Given the description of an element on the screen output the (x, y) to click on. 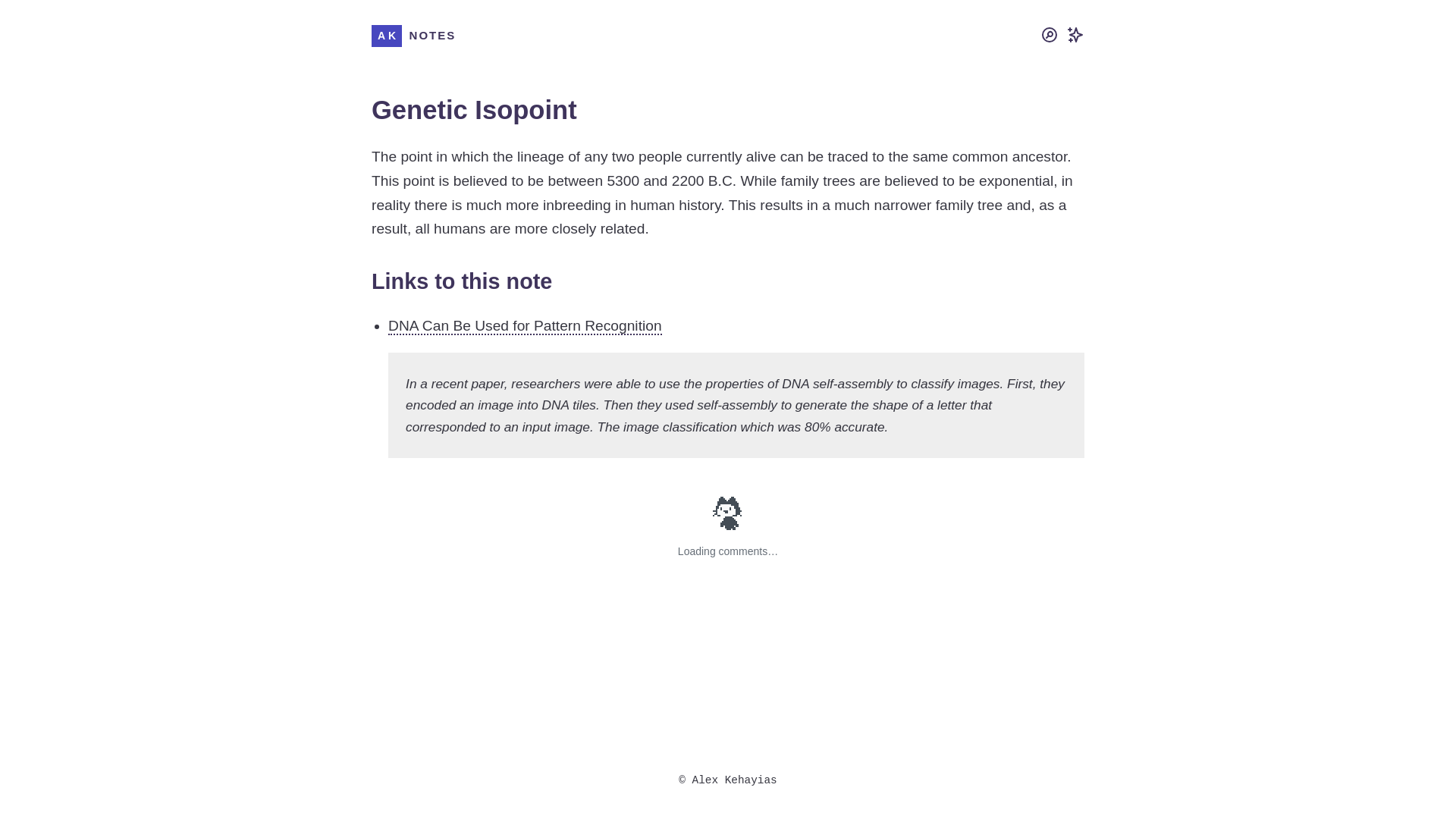
AK NOTES (413, 34)
Comments (727, 552)
DNA Can Be Used for Pattern Recognition (525, 325)
